Given the description of an element on the screen output the (x, y) to click on. 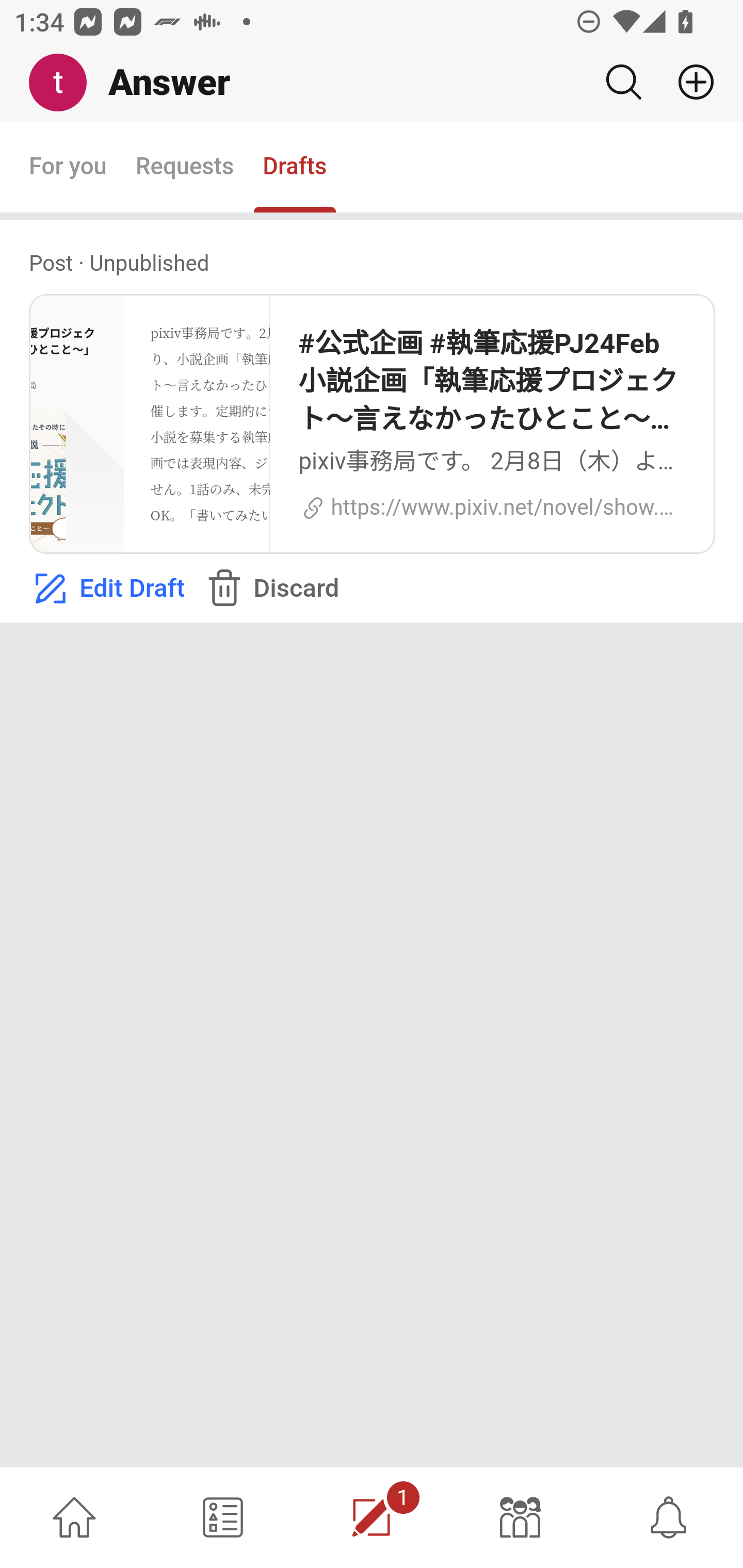
Me Answer Search Add (371, 82)
Me (64, 83)
Search (623, 82)
Add (688, 82)
For you (68, 167)
Requests (183, 167)
Drafts (295, 167)
Edit Draft (105, 588)
Discard (270, 588)
